Given the description of an element on the screen output the (x, y) to click on. 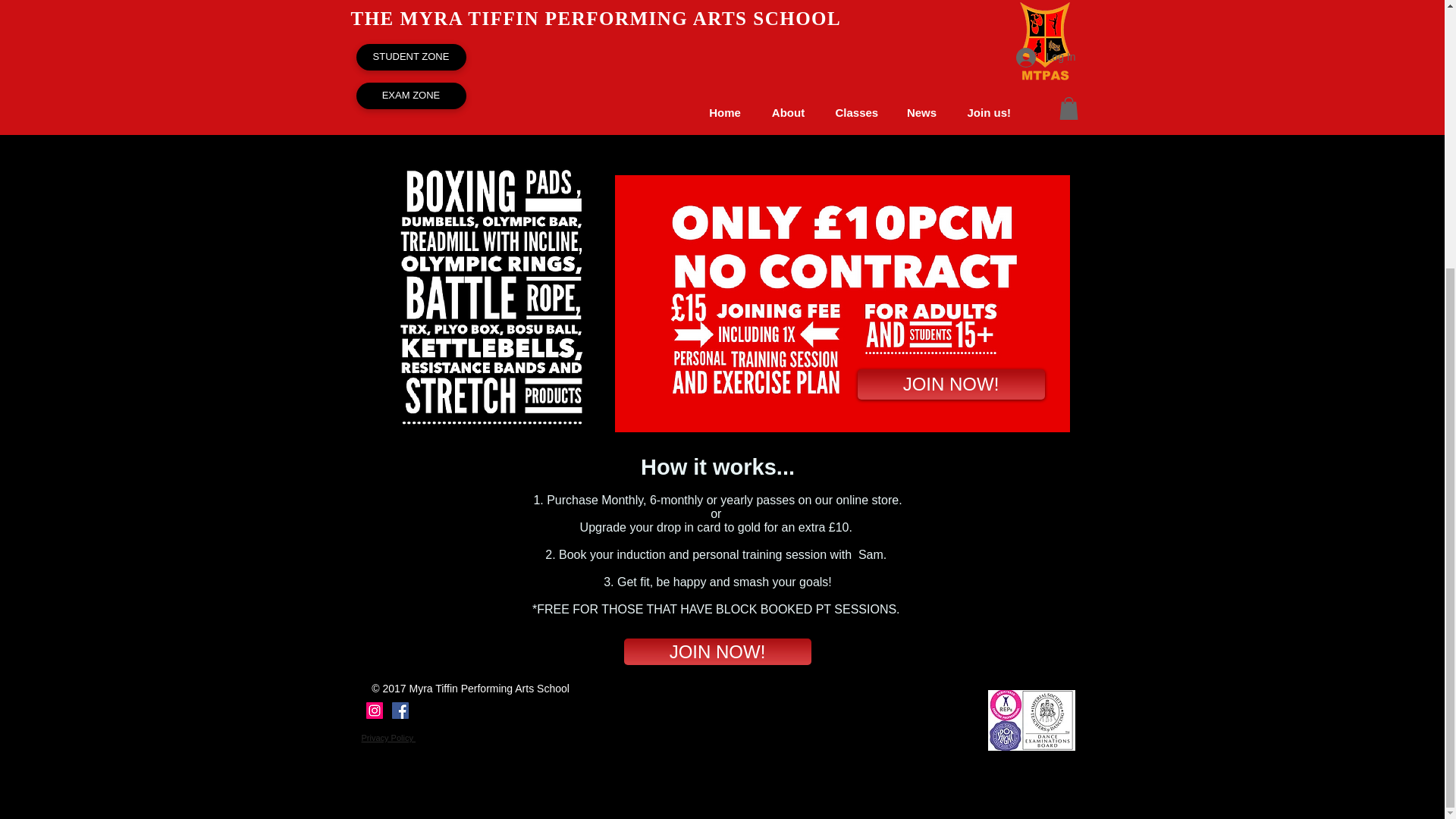
Privacy Policy  (387, 737)
JOIN NOW! (716, 651)
JOIN NOW! (950, 384)
